Given the description of an element on the screen output the (x, y) to click on. 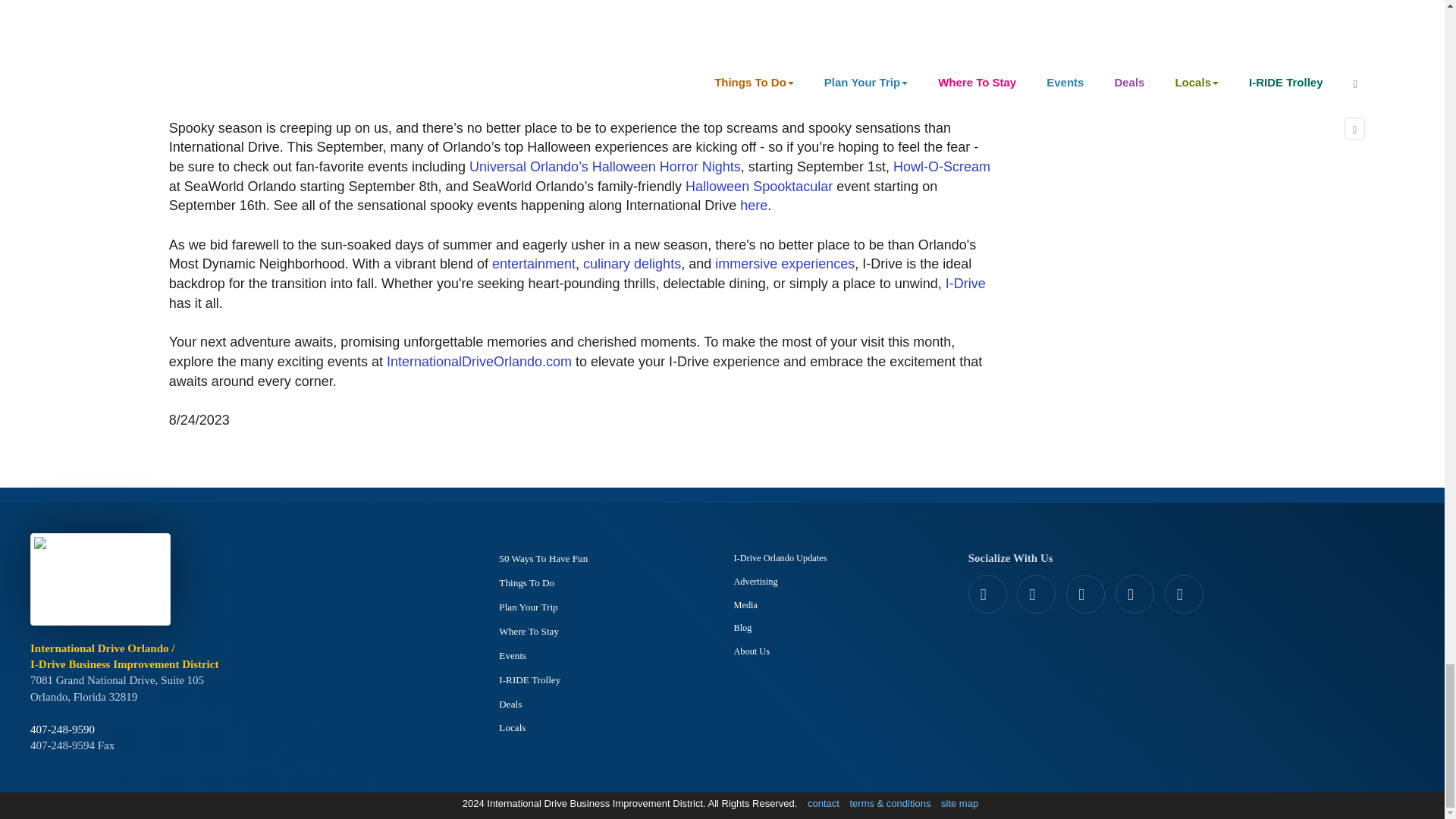
International Drive Business Improvement District (103, 583)
